Given the description of an element on the screen output the (x, y) to click on. 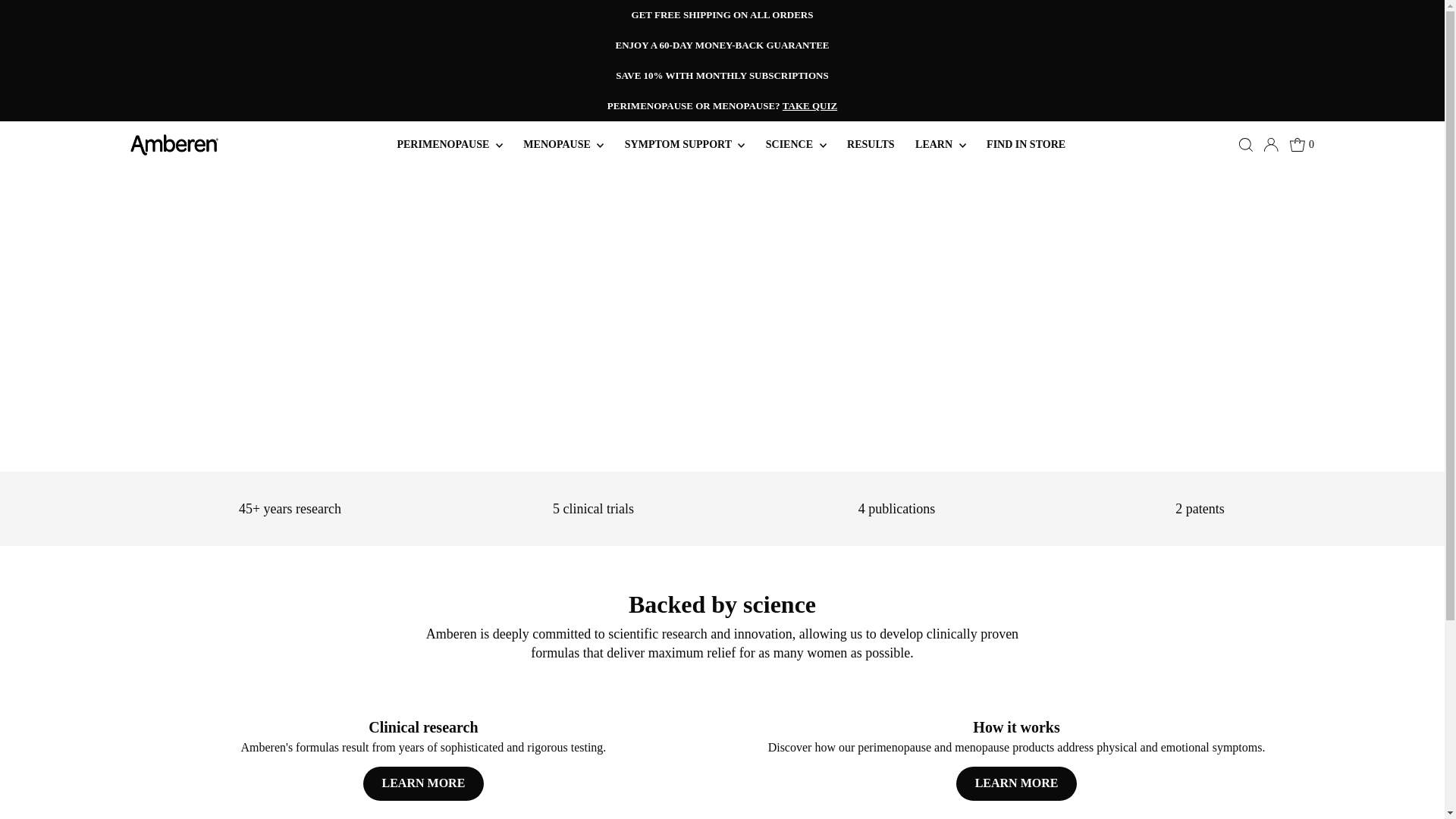
Quiz: Peri or Meno? (810, 105)
How it works (1015, 754)
Clinical research (422, 754)
TAKE QUIZ (810, 105)
